Given the description of an element on the screen output the (x, y) to click on. 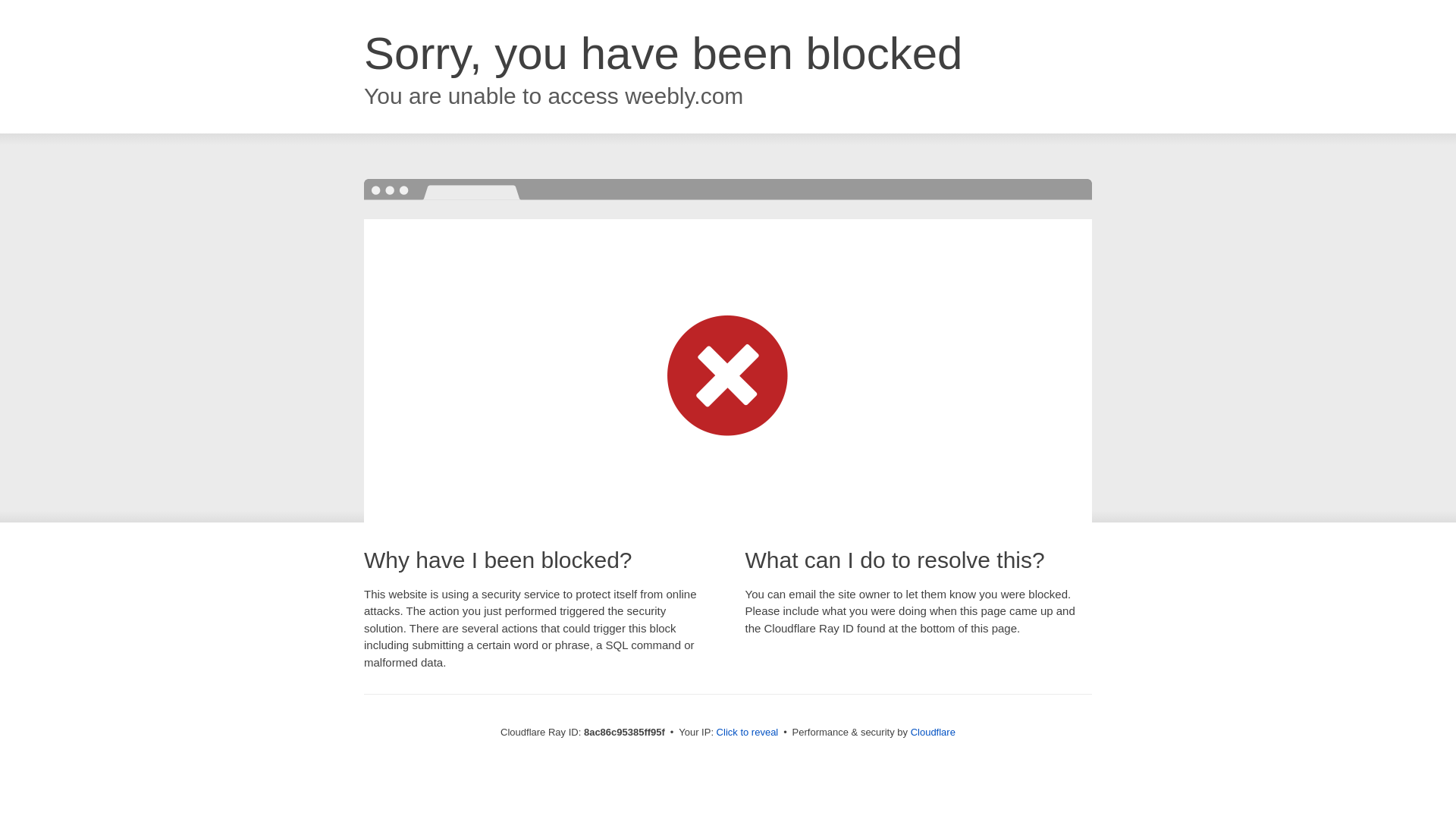
Cloudflare (933, 731)
Click to reveal (747, 732)
